Given the description of an element on the screen output the (x, y) to click on. 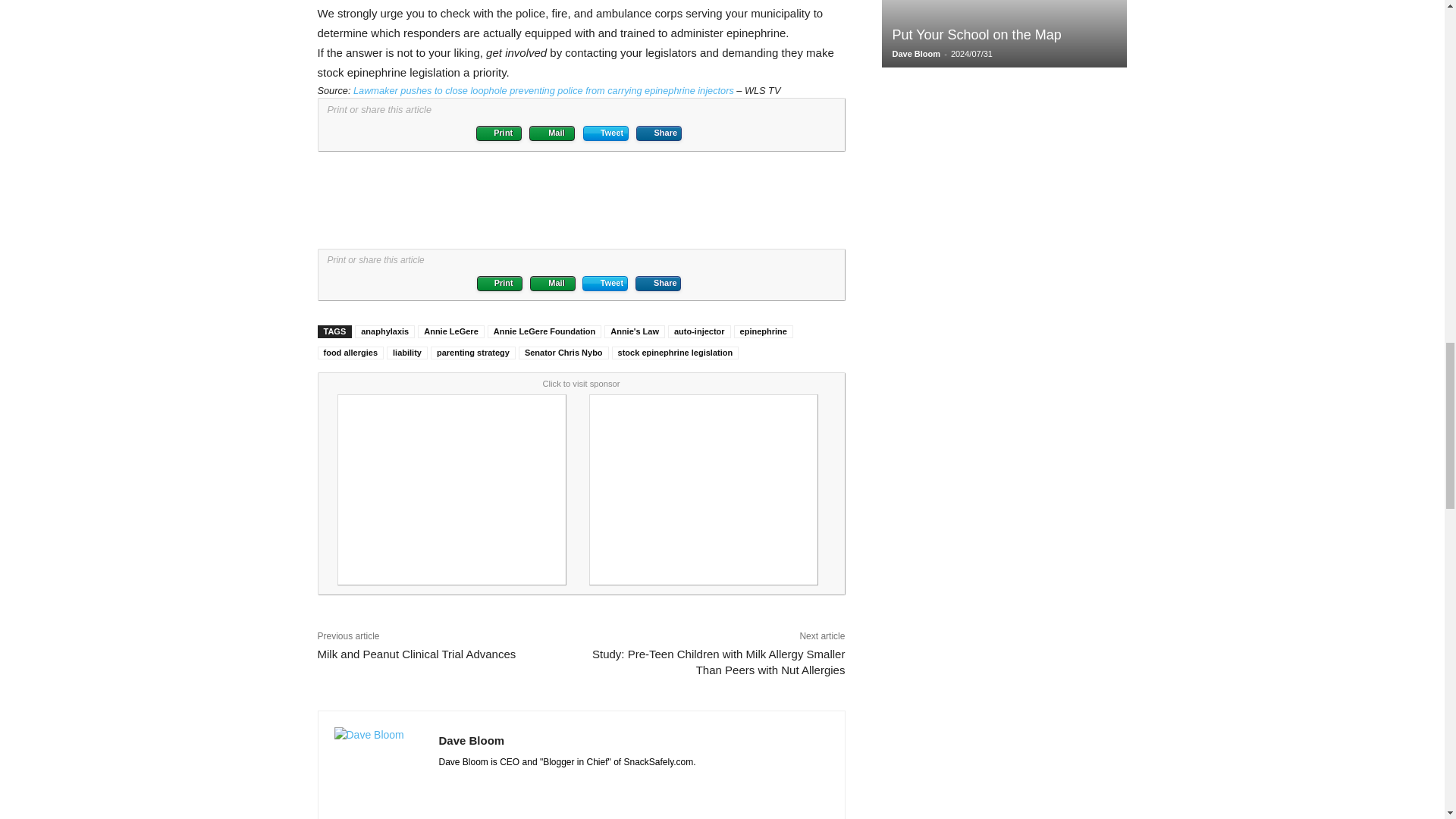
Print or save a PDF of this page (499, 283)
Print or save a PDF of this page (498, 133)
E-mail a link to this page (552, 133)
